Given the description of an element on the screen output the (x, y) to click on. 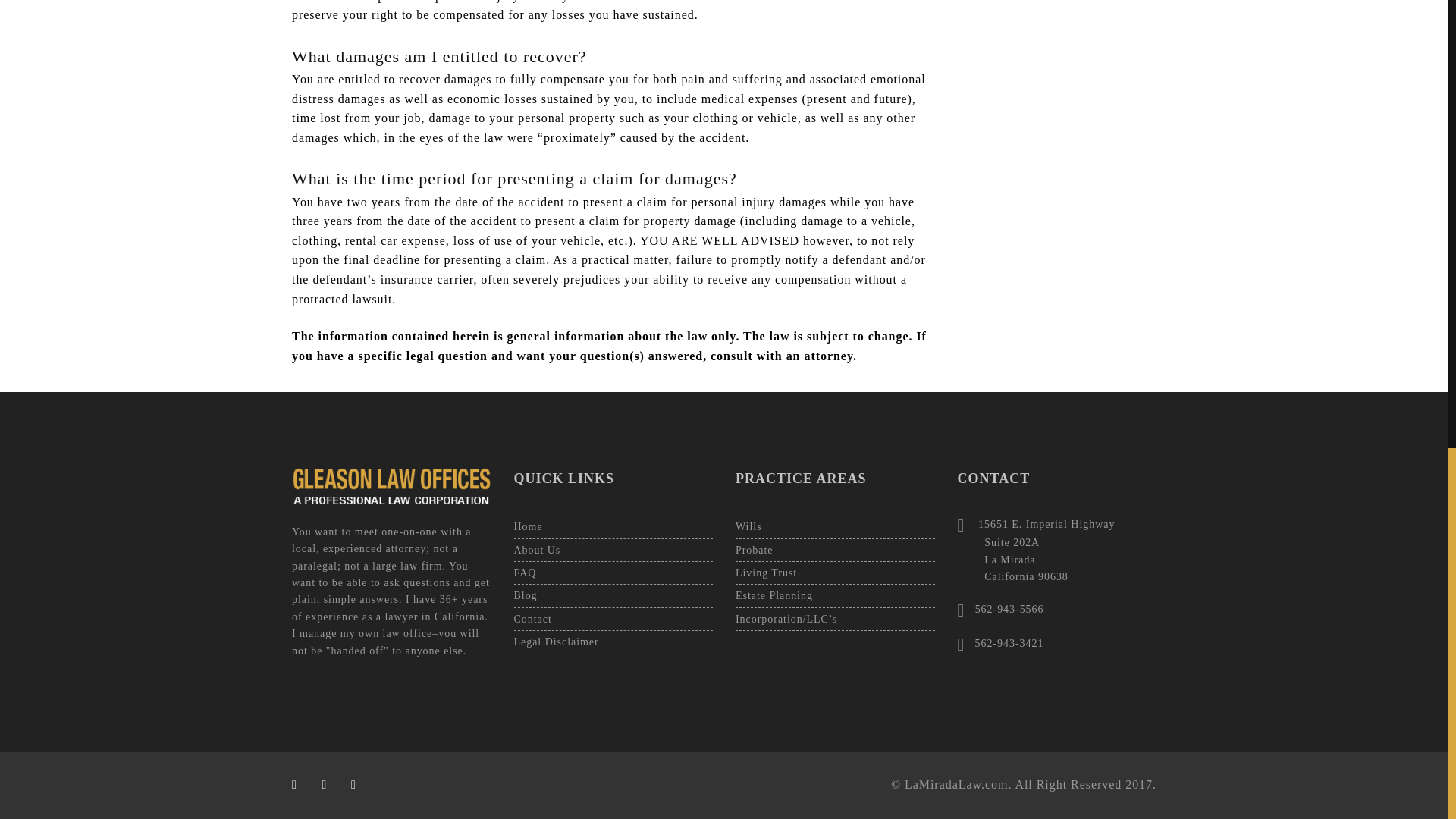
Blog (613, 596)
Living Trust (834, 573)
Probate (834, 550)
Estate Planning (834, 596)
FAQ (613, 573)
Home (613, 527)
Wills (834, 527)
Contact (613, 619)
About Us (613, 550)
Legal Disclaimer (613, 642)
